Given the description of an element on the screen output the (x, y) to click on. 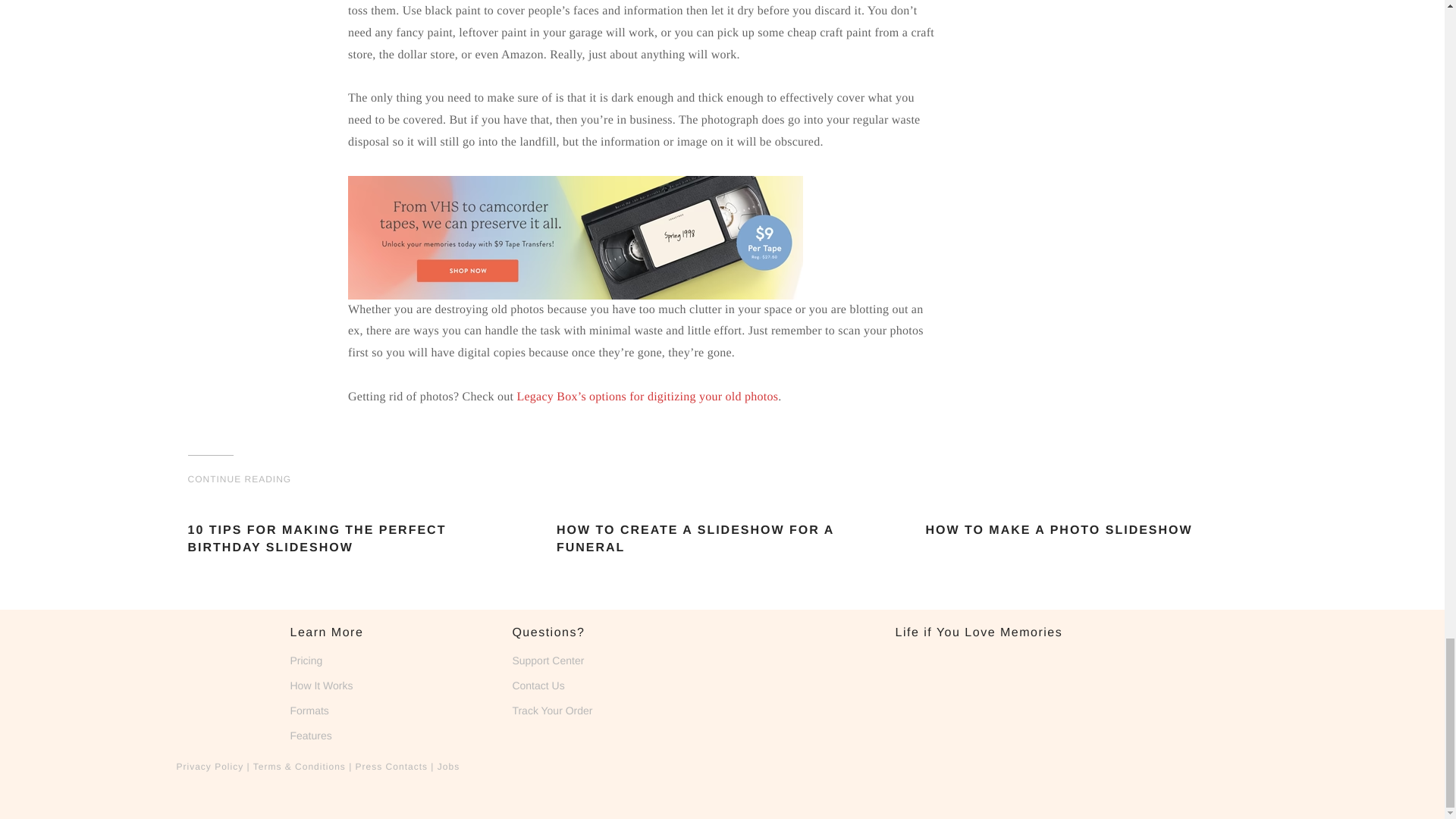
HOW TO CREATE A SLIDESHOW FOR A FUNERAL (722, 509)
10 TIPS FOR MAKING THE PERFECT BIRTHDAY SLIDESHOW (353, 509)
HOW TO MAKE A PHOTO SLIDESHOW (1090, 509)
